Given the description of an element on the screen output the (x, y) to click on. 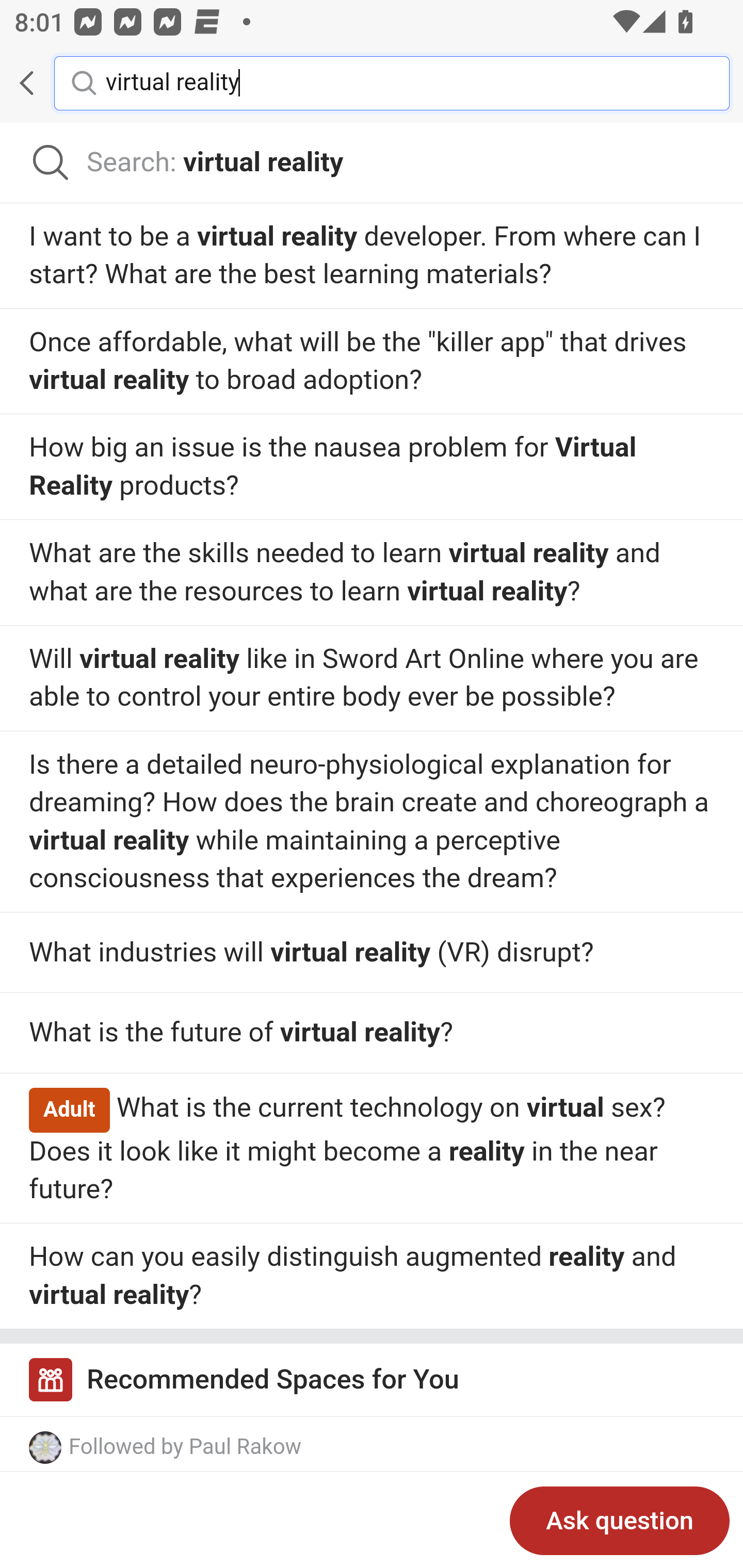
Me Home Search Add (371, 82)
virtual reality (402, 82)
Search: v (371, 162)
